Given the description of an element on the screen output the (x, y) to click on. 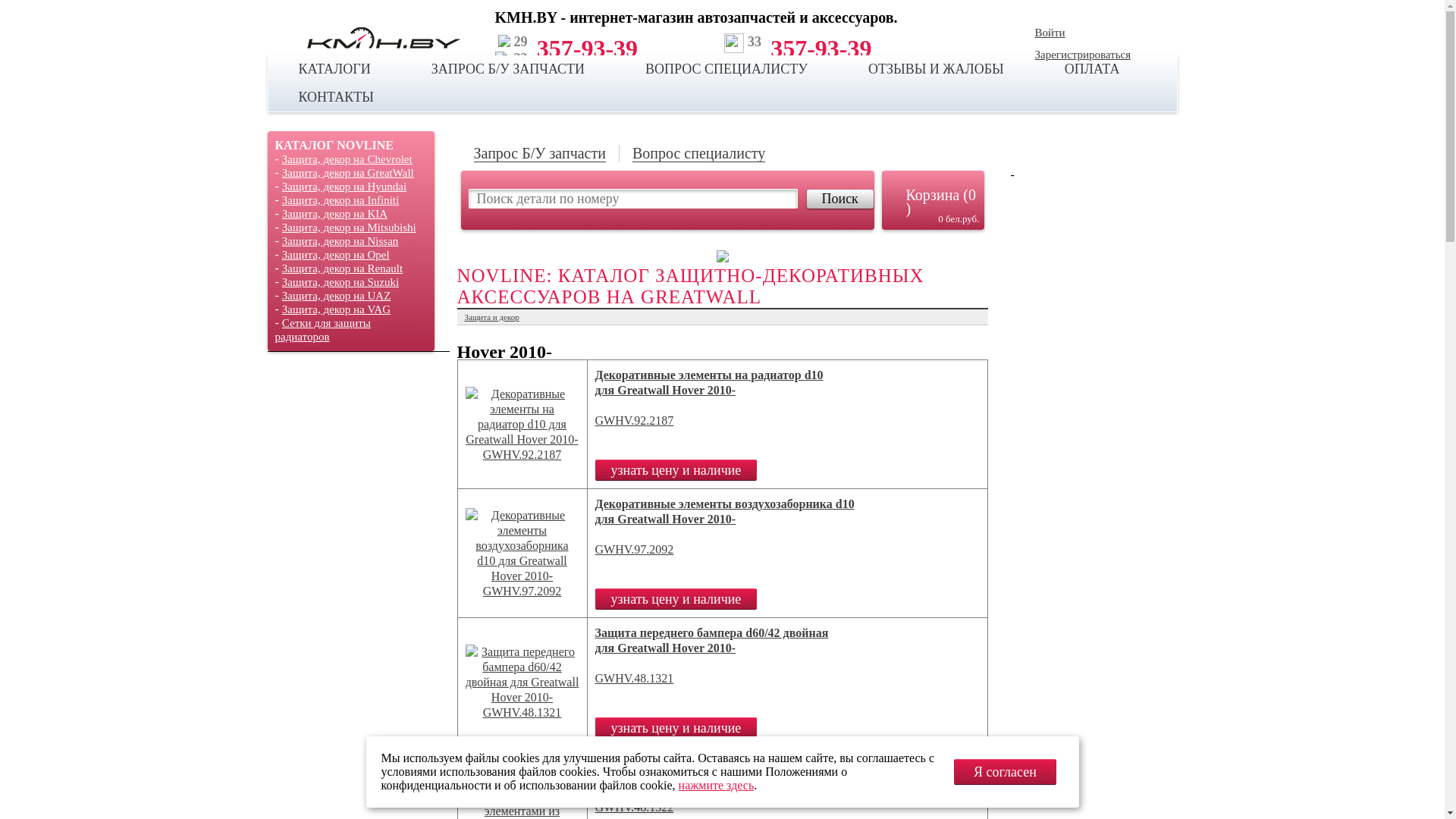
GWHV.97.2092 Element type: text (633, 548)
GWHV.48.1322 Element type: text (633, 806)
GWHV.48.1321 Element type: text (633, 677)
GWHV.92.2187 Element type: text (633, 420)
